Given the description of an element on the screen output the (x, y) to click on. 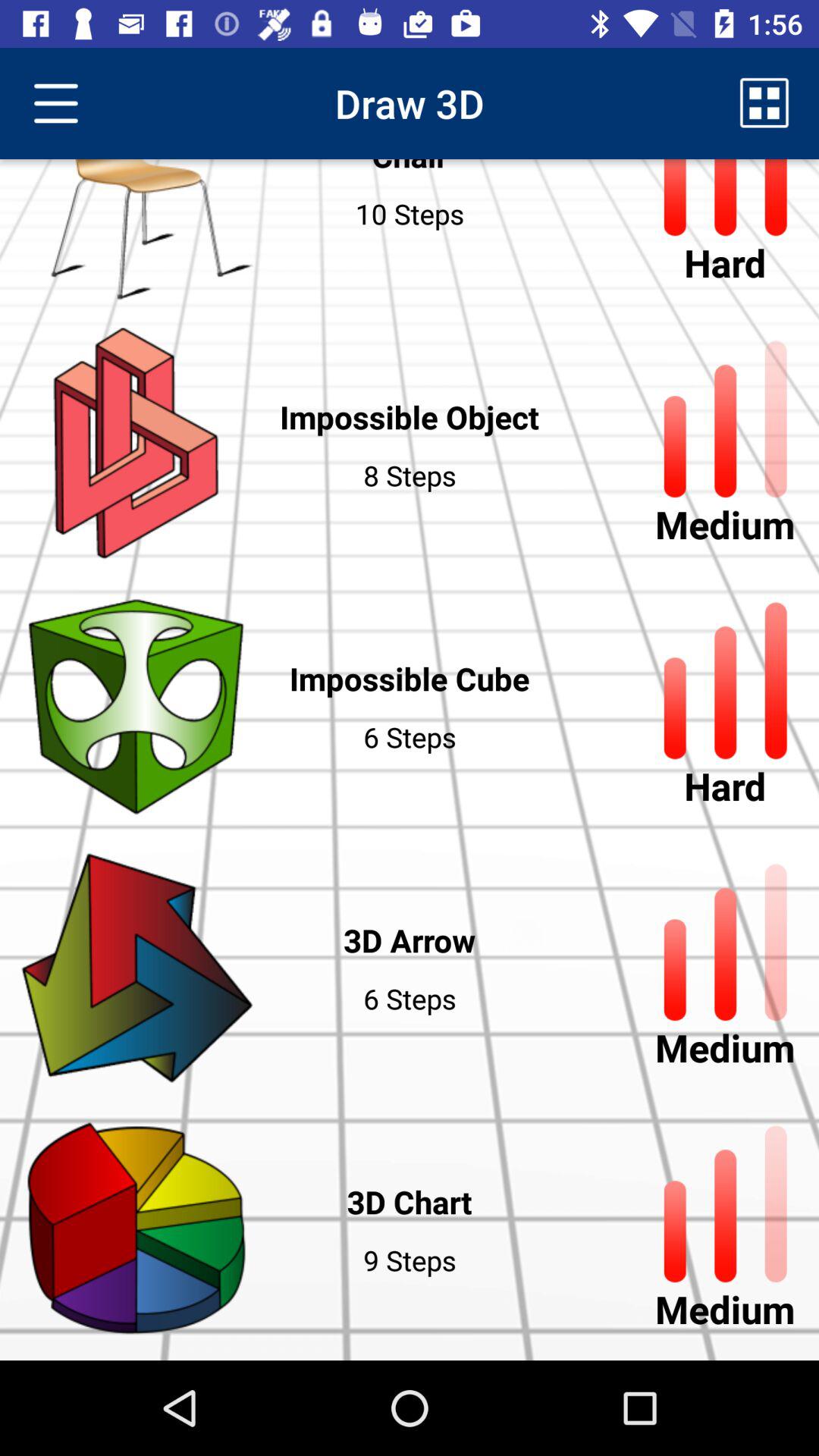
press the icon next to chair item (55, 103)
